Given the description of an element on the screen output the (x, y) to click on. 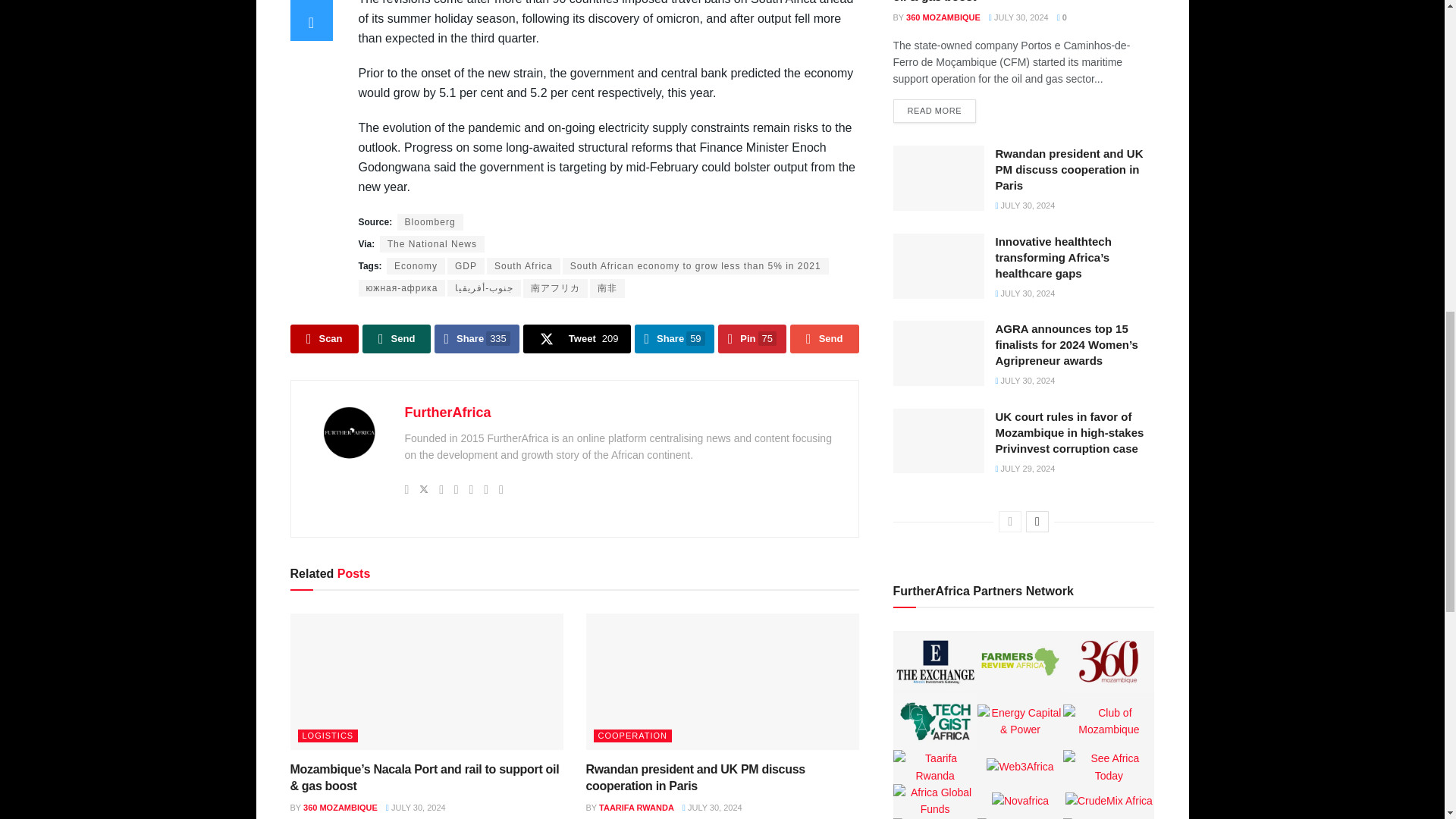
Previous (1010, 521)
Next (1037, 521)
